Given the description of an element on the screen output the (x, y) to click on. 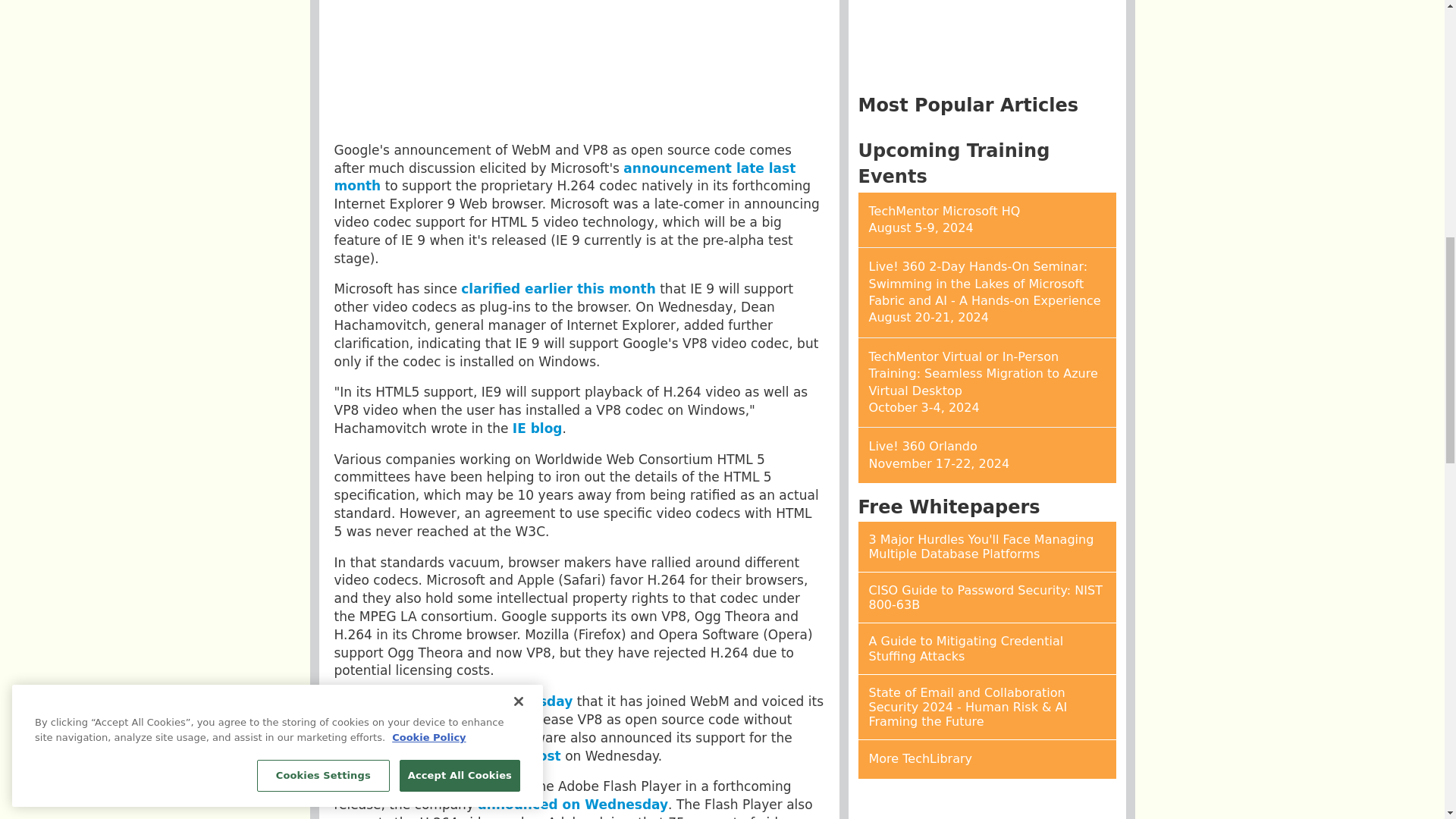
3rd party ad content (986, 805)
clarified earlier this month (558, 288)
a blog post (519, 755)
3rd party ad content (579, 64)
3rd party ad content (986, 42)
IE blog (537, 427)
announced on Wednesday (476, 701)
announced on Wednesday (572, 804)
announcement late last month (563, 177)
